Given the description of an element on the screen output the (x, y) to click on. 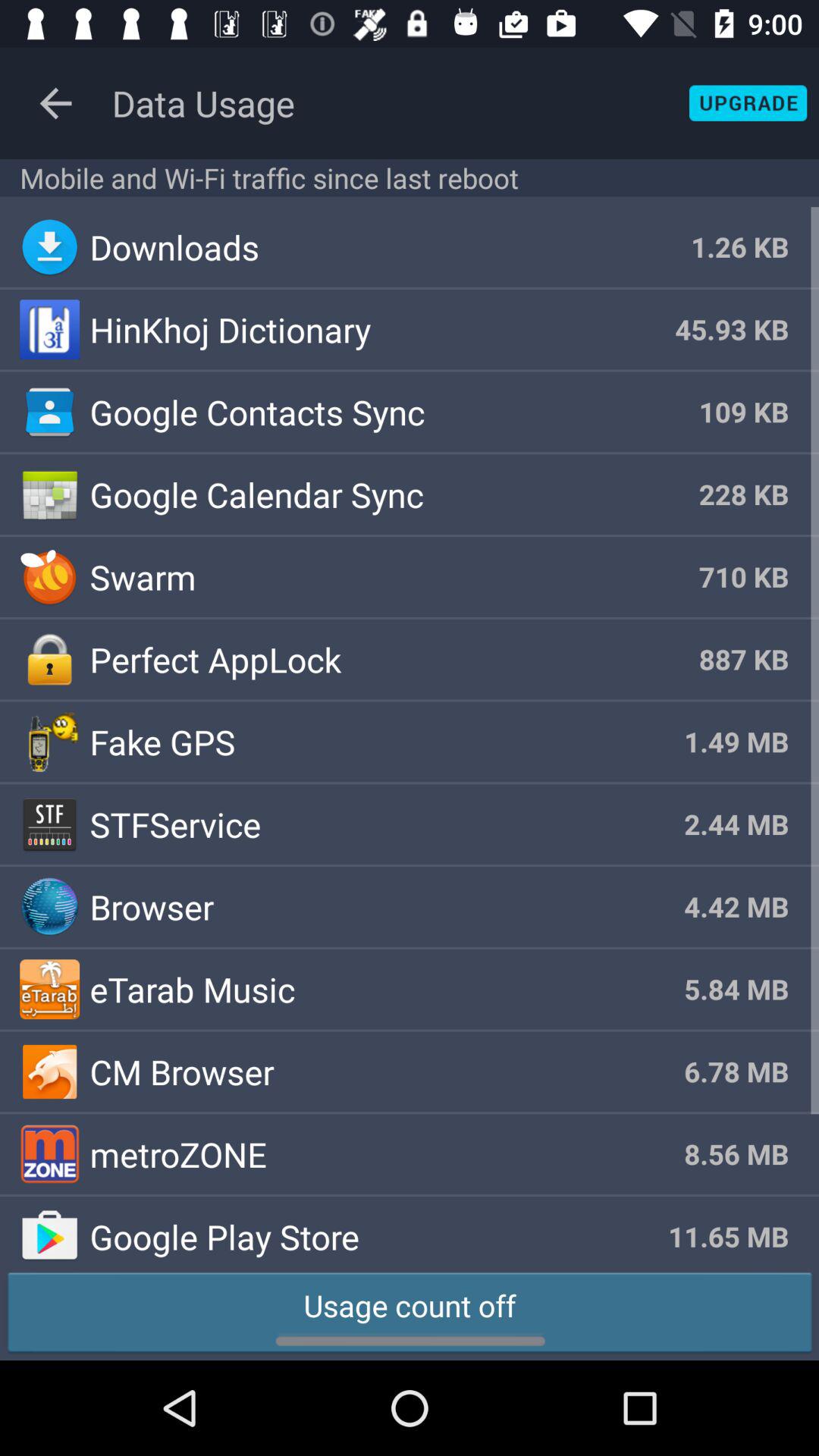
go back (55, 103)
